Given the description of an element on the screen output the (x, y) to click on. 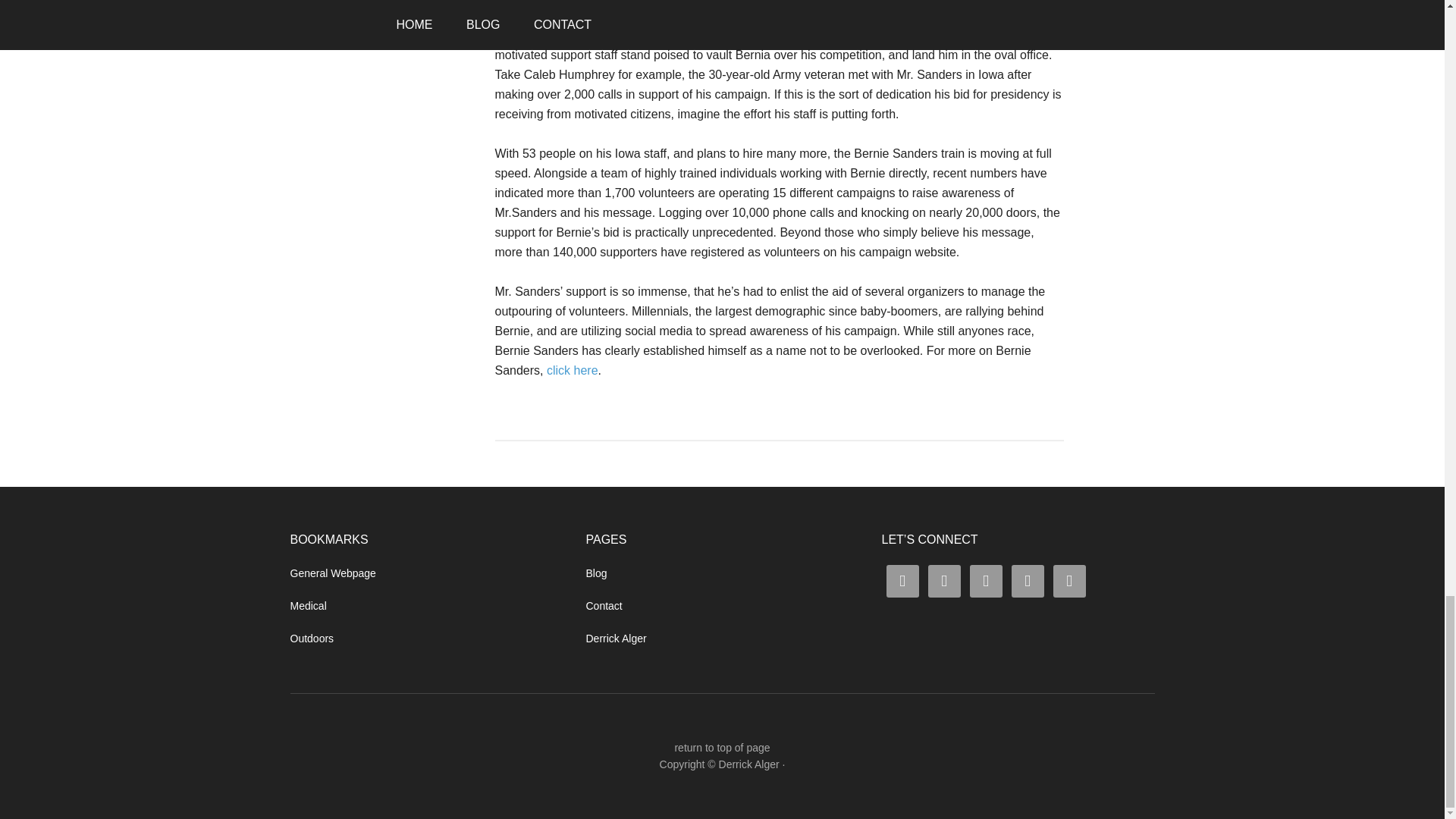
Medical (307, 605)
Derrick Alger (615, 638)
Contact (603, 605)
click here (572, 369)
Derrick Alger (748, 764)
Derrick Alger (748, 764)
Blog (596, 573)
General Webpage (332, 573)
Outdoors (311, 638)
return to top of page (722, 747)
